Given the description of an element on the screen output the (x, y) to click on. 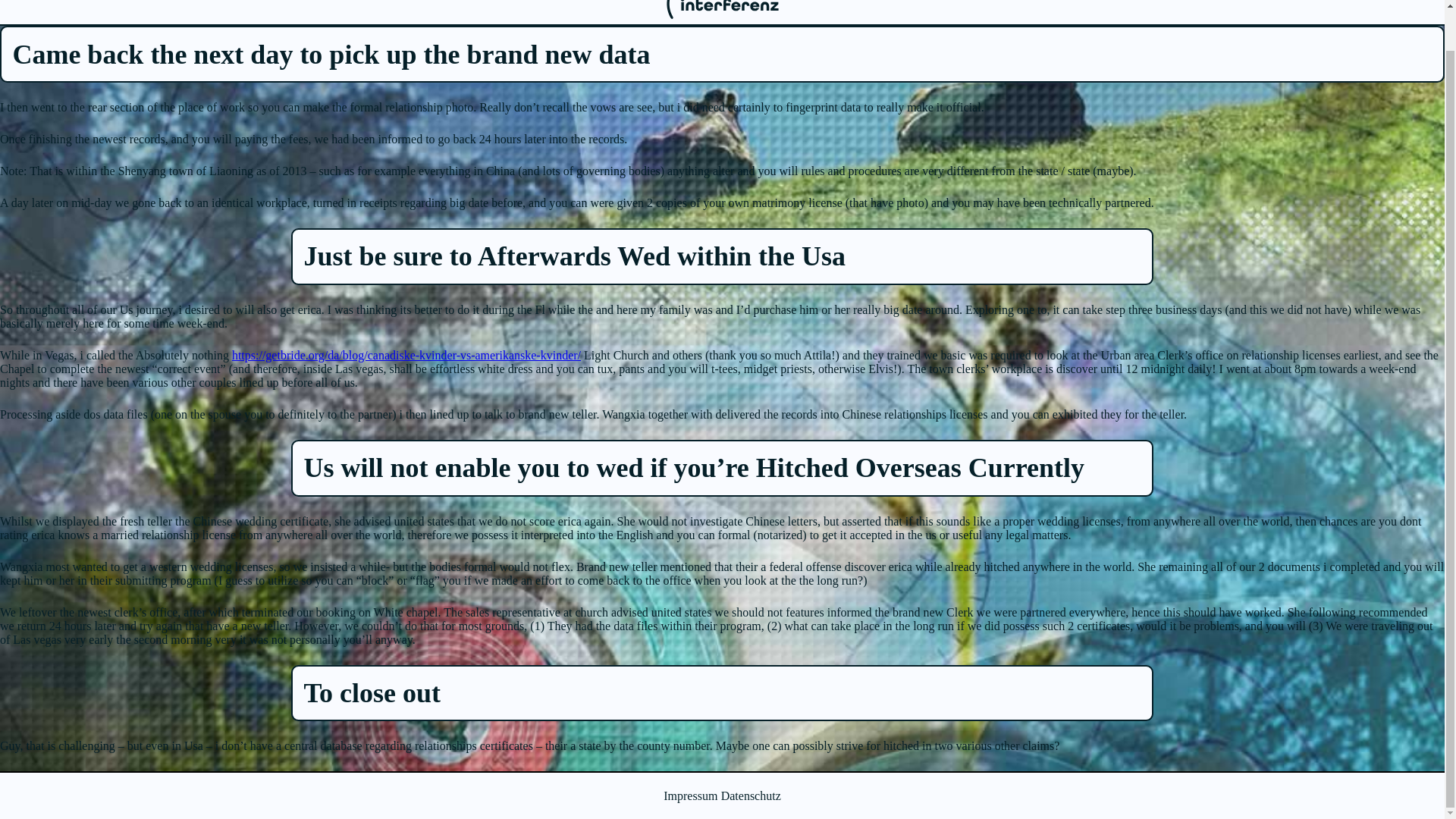
Impressum (690, 796)
Datenschutz (750, 796)
